Given the description of an element on the screen output the (x, y) to click on. 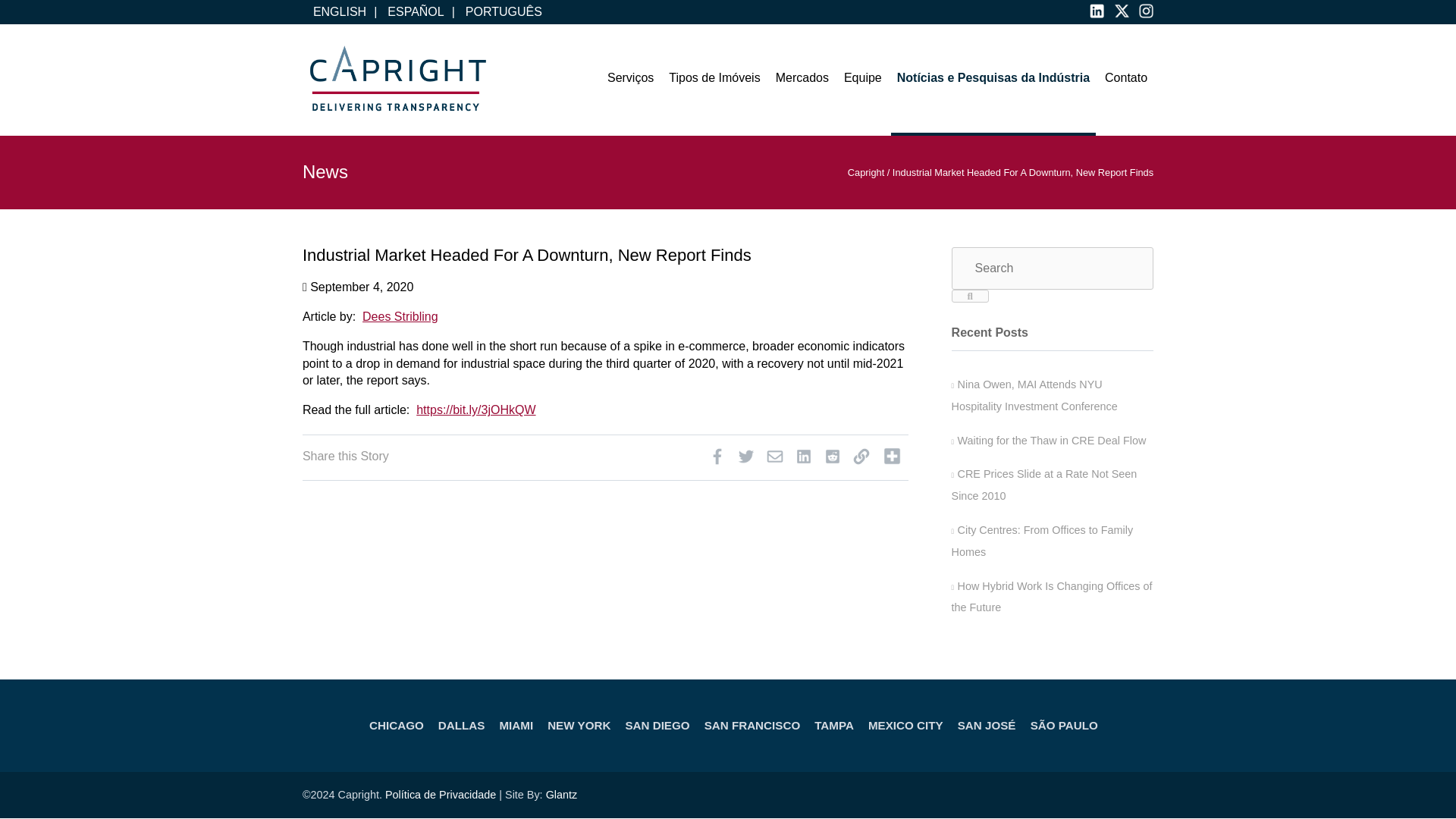
Home Page (397, 79)
Twitter (746, 460)
Email (774, 460)
Copy Link (861, 460)
LinkedIn (803, 460)
Facebook (717, 460)
Reddit (832, 460)
